Given the description of an element on the screen output the (x, y) to click on. 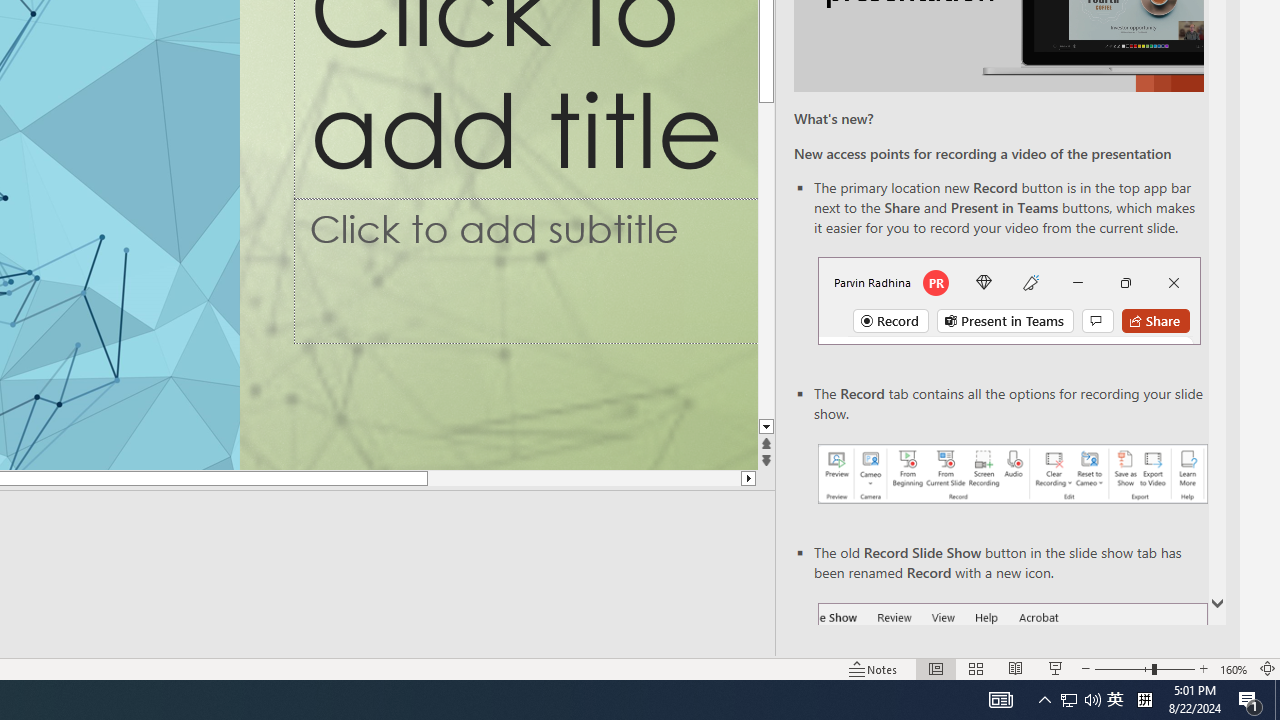
Zoom 160% (1234, 668)
Record your presentations screenshot one (1012, 473)
Subtitle TextBox (525, 271)
Record button in top bar (1008, 300)
